Given the description of an element on the screen output the (x, y) to click on. 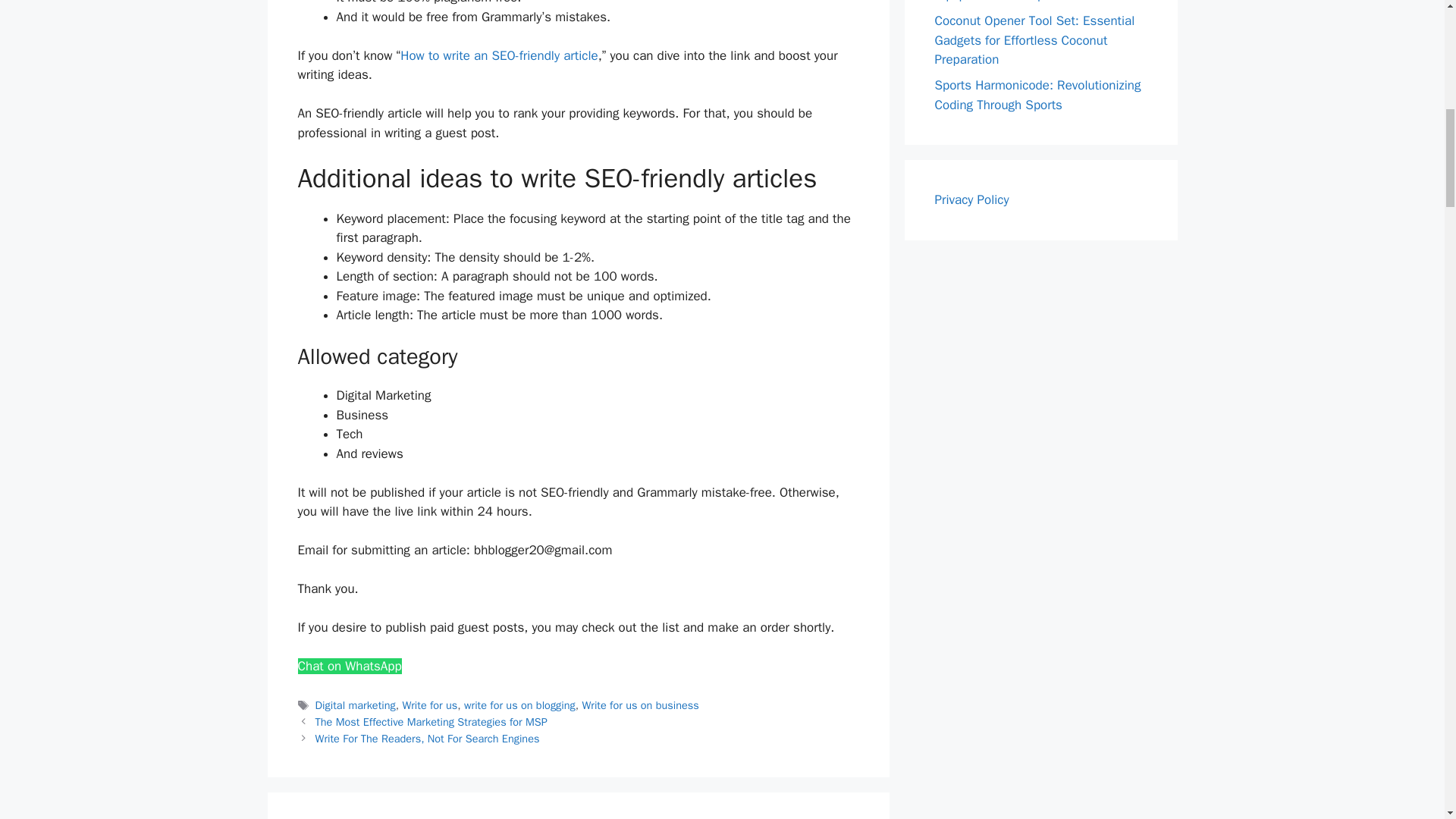
write for us on blogging (519, 704)
The Most Effective Marketing Strategies for MSP (431, 721)
Chat on WhatsApp (349, 666)
Write For The Readers, Not For Search Engines (427, 738)
Write for us on business (639, 704)
Write for us (429, 704)
How to write an SEO-friendly article (498, 55)
Digital marketing (355, 704)
